Given the description of an element on the screen output the (x, y) to click on. 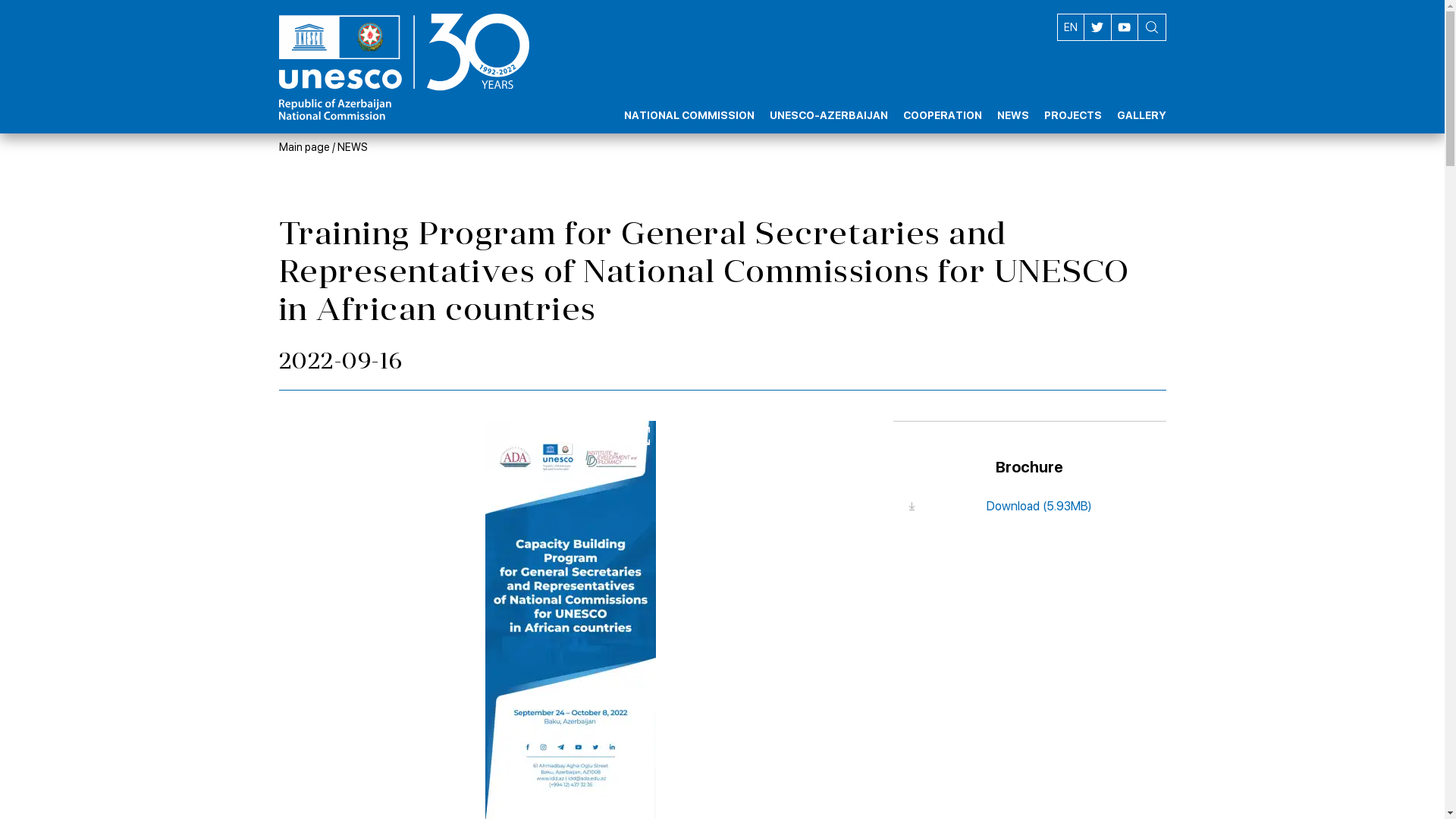
Main page Element type: text (304, 147)
Download (5.93MB) Element type: text (1028, 506)
GALLERY Element type: text (1140, 102)
UNESCO-AZERBAIJAN Element type: text (827, 102)
NATIONAL COMMISSION Element type: text (688, 102)
COOPERATION Element type: text (941, 102)
AZ Element type: text (1069, 27)
NEWS Element type: text (351, 147)
NEWS Element type: text (1011, 102)
PROJECTS Element type: text (1071, 102)
